Given the description of an element on the screen output the (x, y) to click on. 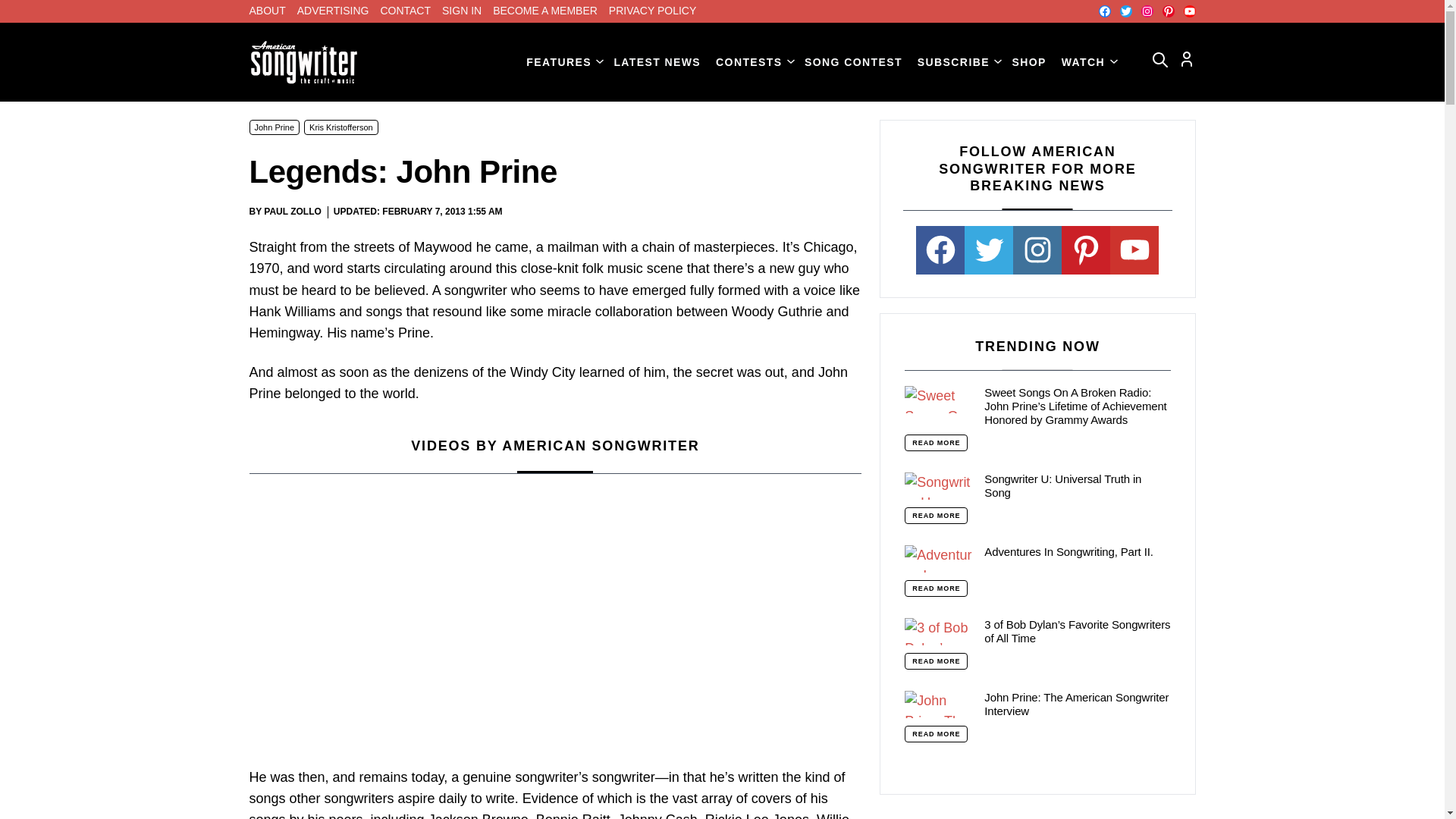
PRIVACY POLICY (651, 10)
SIGN IN (461, 10)
February 7, 2013 1:55 am (441, 212)
YouTube (1188, 10)
Posts by Paul Zollo (292, 211)
Instagram (1146, 10)
ADVERTISING (333, 10)
BECOME A MEMBER (544, 10)
Pinterest (1167, 10)
ABOUT (266, 10)
